Given the description of an element on the screen output the (x, y) to click on. 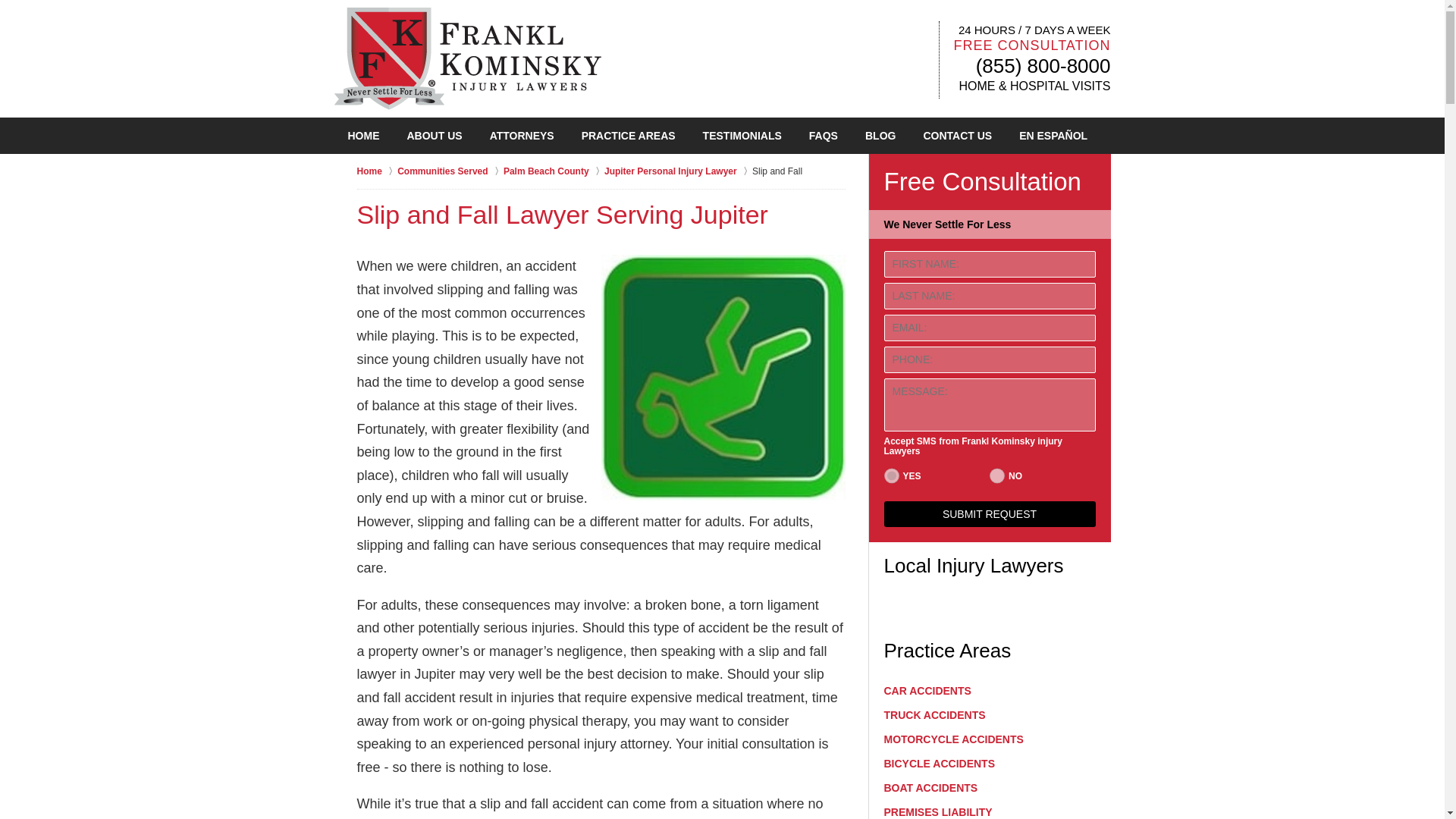
ABOUT US (434, 135)
ATTORNEYS (521, 135)
Frankl Kominsky Injury Lawyers Home (466, 58)
Communities Served (450, 171)
BLOG (879, 135)
PRACTICE AREAS (627, 135)
FAQS (822, 135)
Jupiter Personal Injury Lawyer (678, 171)
Home (376, 171)
TESTIMONIALS (741, 135)
